Given the description of an element on the screen output the (x, y) to click on. 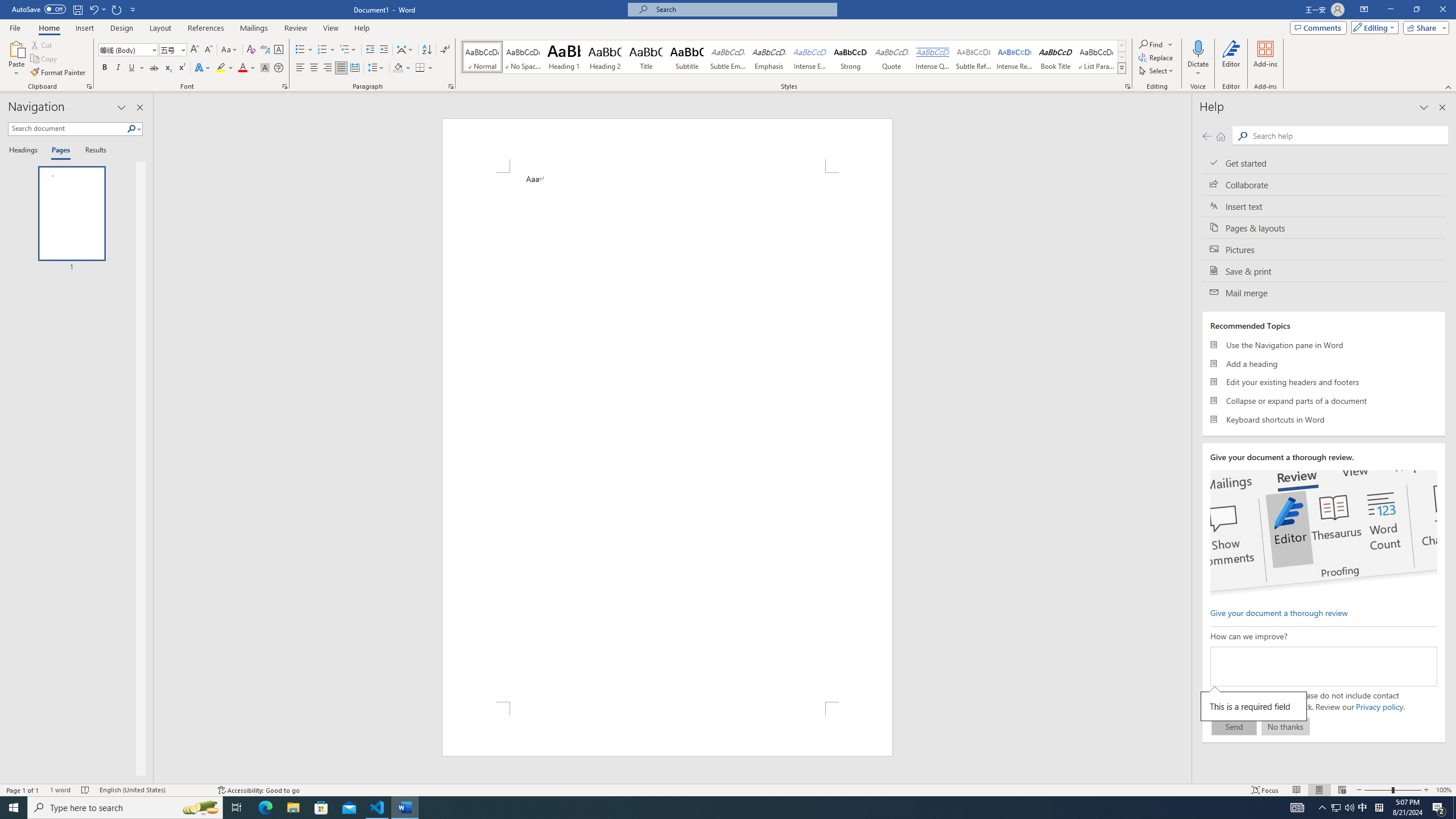
Heading 2 (605, 56)
Subtle Emphasis (727, 56)
Save & print (1323, 270)
